Given the description of an element on the screen output the (x, y) to click on. 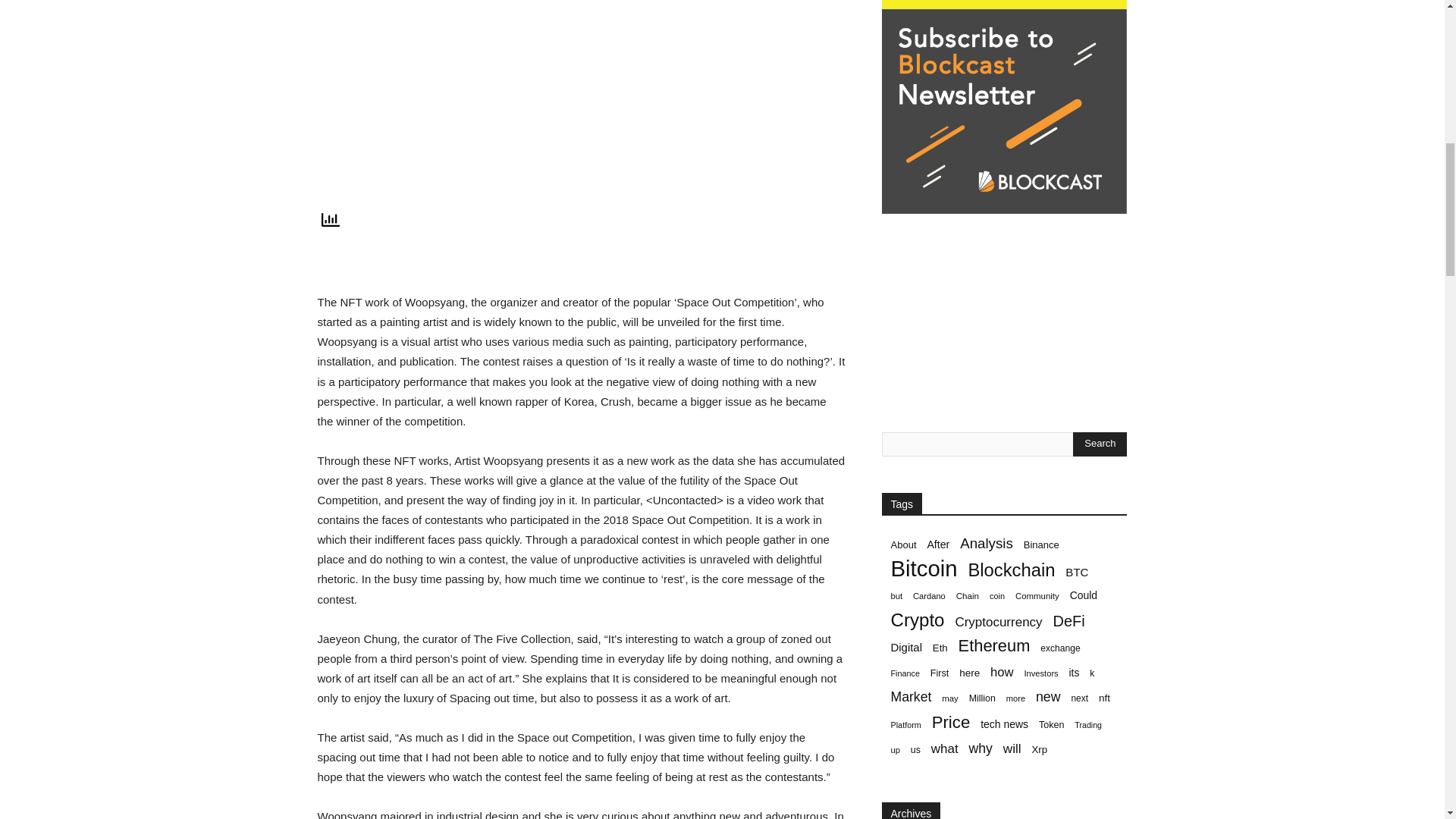
Search (1099, 444)
